Given the description of an element on the screen output the (x, y) to click on. 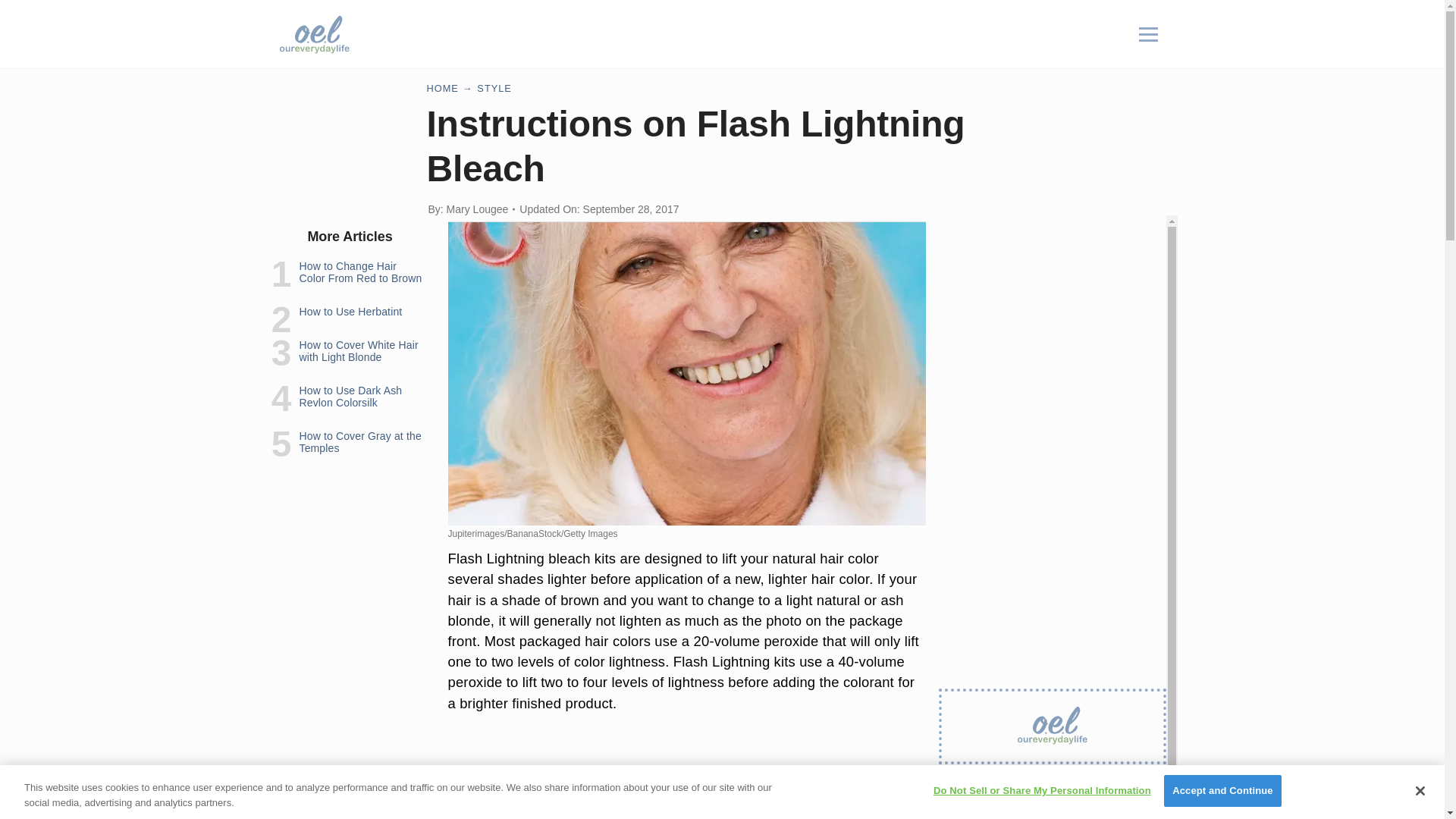
How to Use Dark Ash Revlon Colorsilk (349, 396)
STYLE (494, 88)
How to Cover White Hair with Light Blonde (357, 351)
3rd party ad content (686, 778)
3rd party ad content (1052, 800)
3rd party ad content (1052, 309)
How to Change Hair Color From Red to Brown (360, 272)
3rd party ad content (741, 33)
HOME (442, 88)
How to Use Herbatint (349, 311)
How to Cover Gray at the Temples (359, 441)
